Given the description of an element on the screen output the (x, y) to click on. 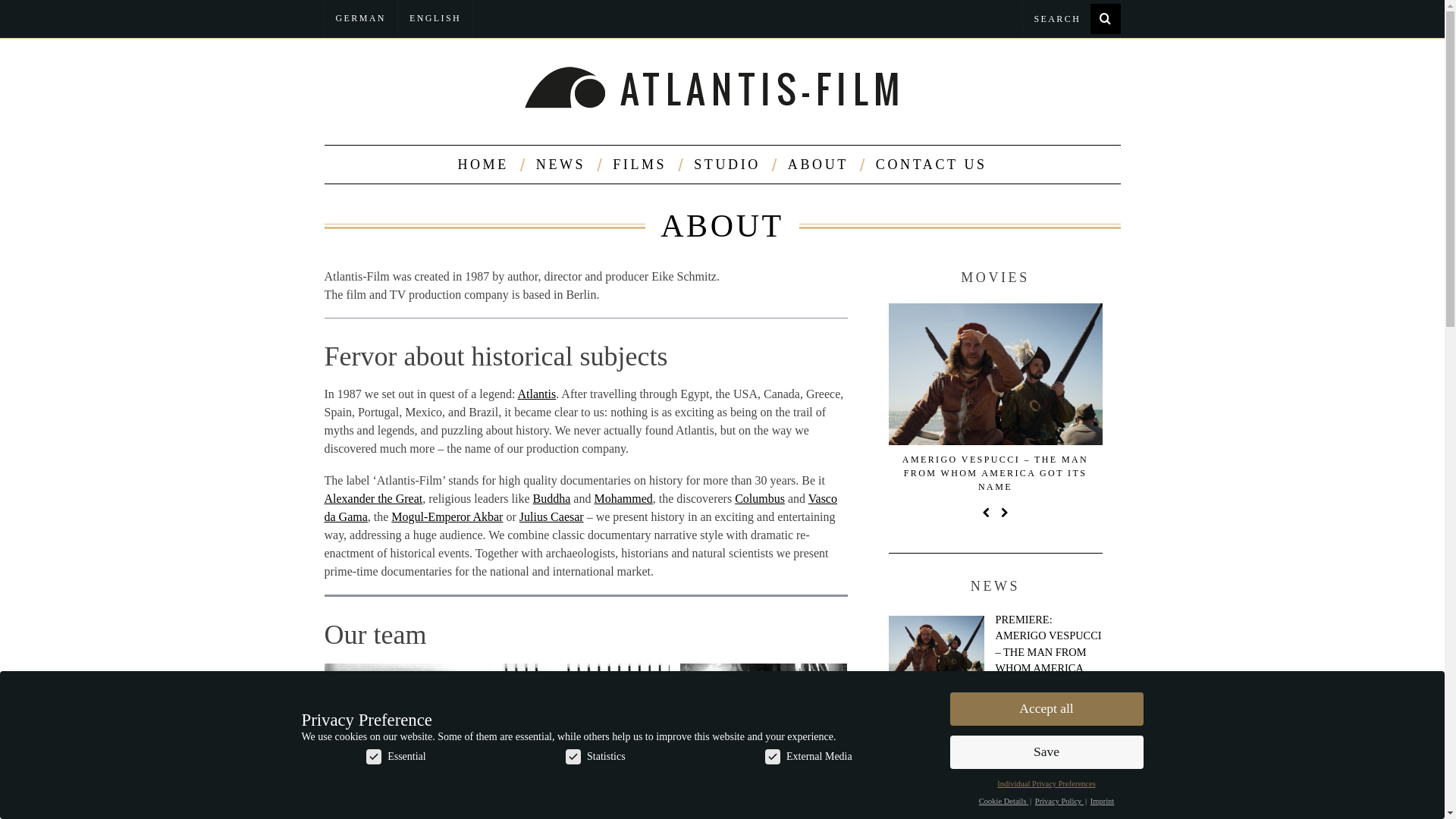
ENGLISH (434, 18)
STUDIO (726, 164)
HOME (482, 164)
GERMAN (360, 18)
NEWS (560, 164)
Alexander the Great (373, 498)
FILMS (639, 164)
English (434, 18)
ABOUT (818, 164)
CONTACT US (931, 164)
